Given the description of an element on the screen output the (x, y) to click on. 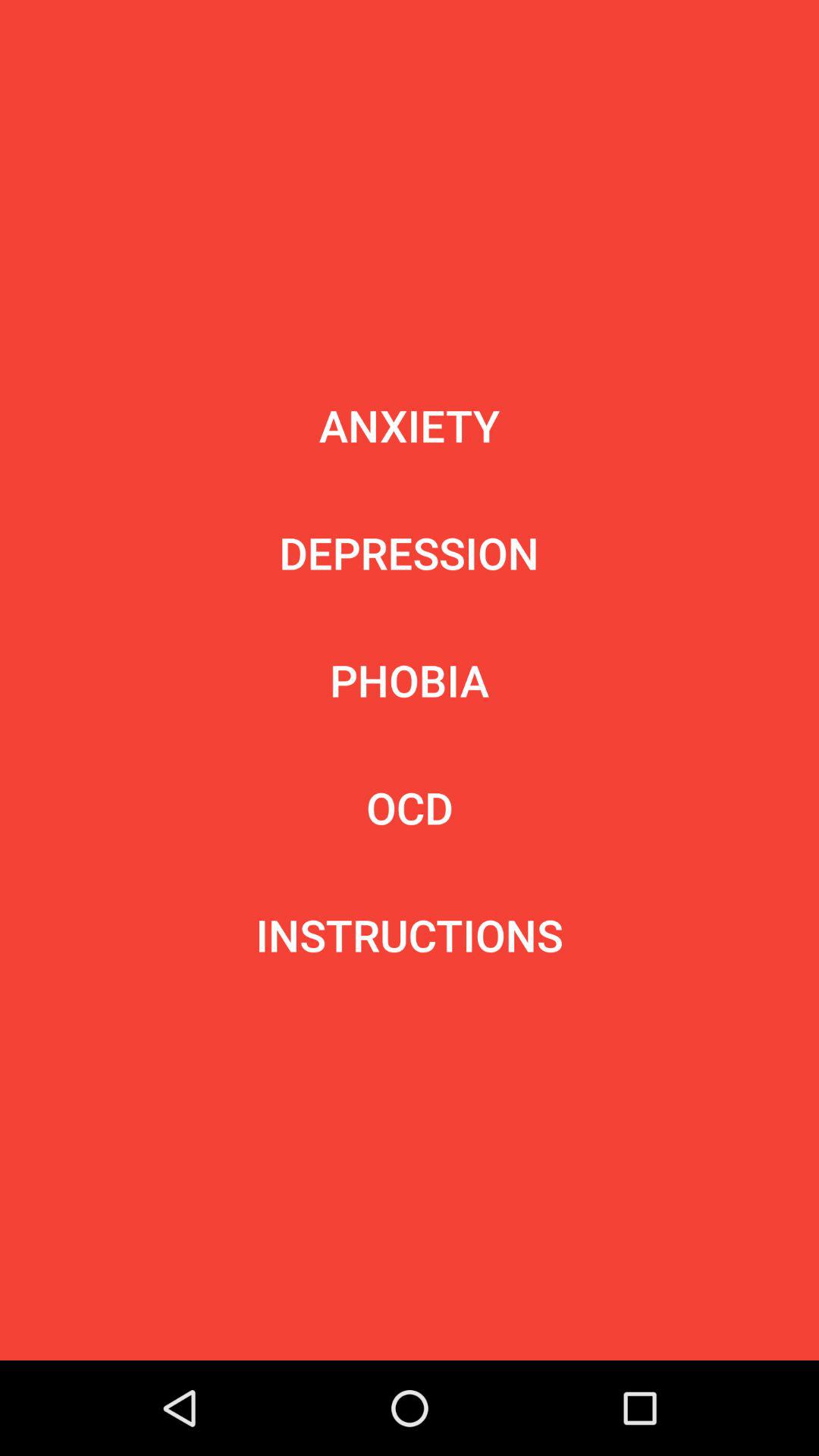
tap the item below depression icon (409, 680)
